Given the description of an element on the screen output the (x, y) to click on. 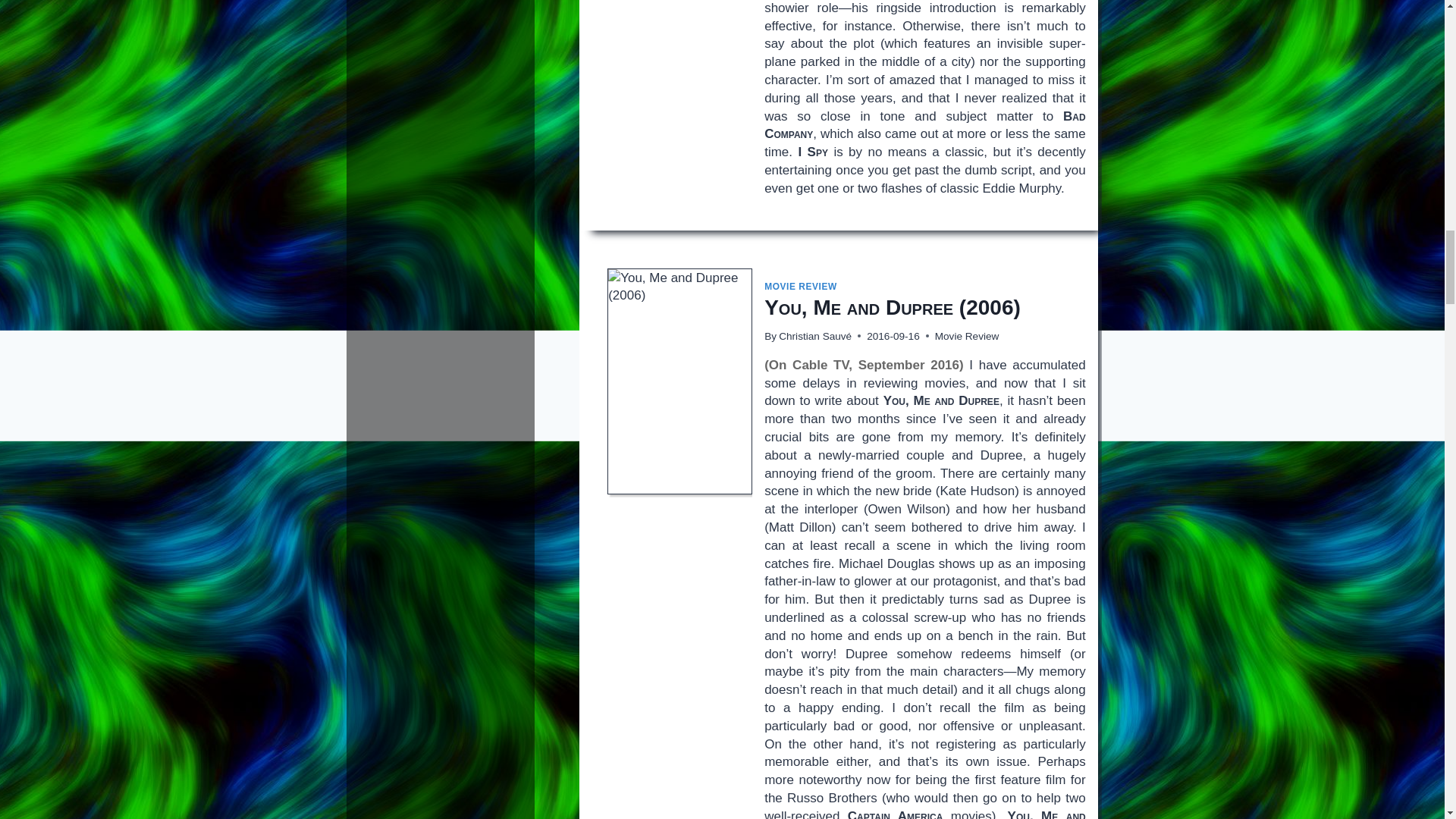
Movie Review (966, 336)
MOVIE REVIEW (800, 286)
